Given the description of an element on the screen output the (x, y) to click on. 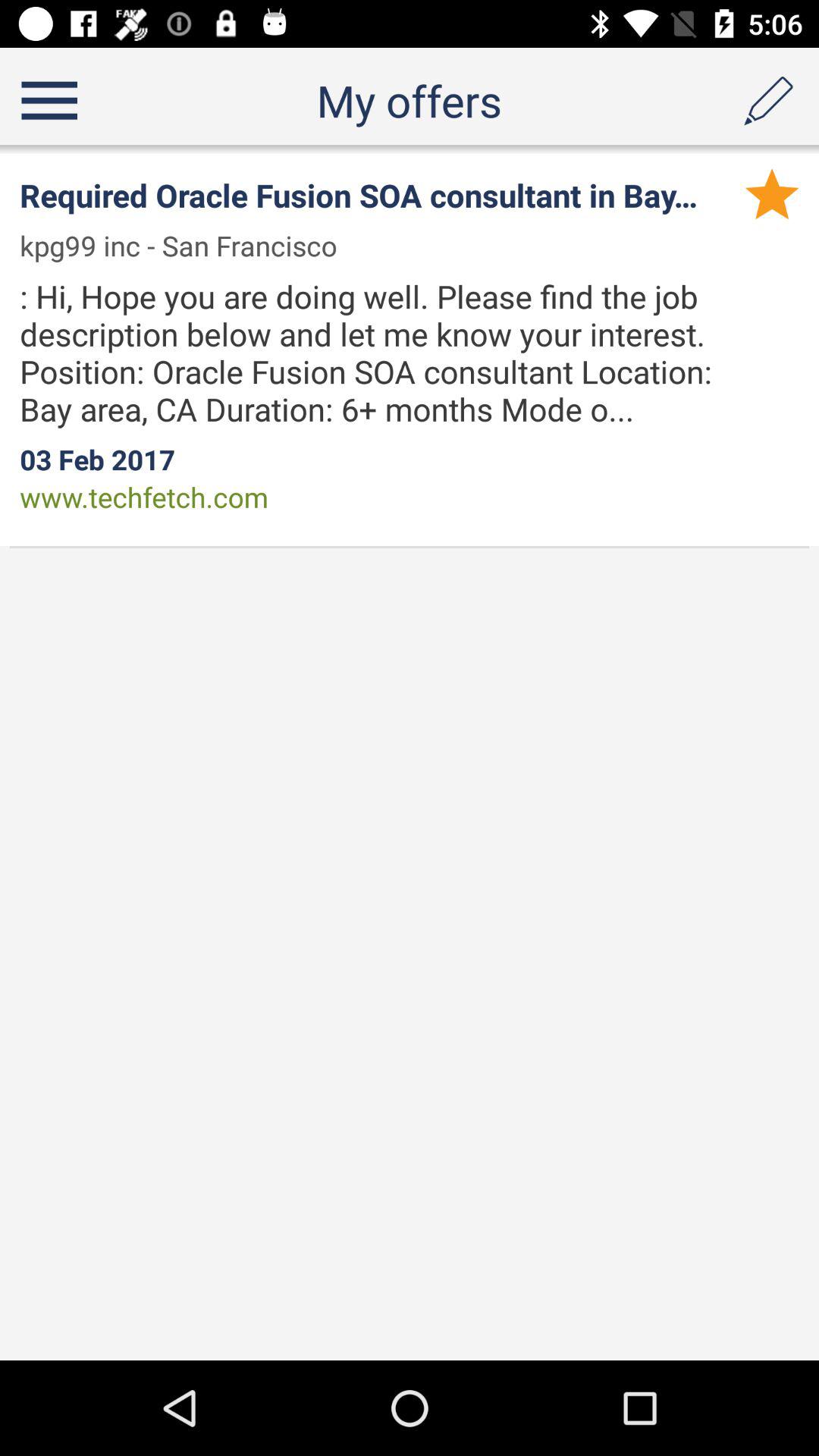
click the app above hi hope you (772, 193)
